Given the description of an element on the screen output the (x, y) to click on. 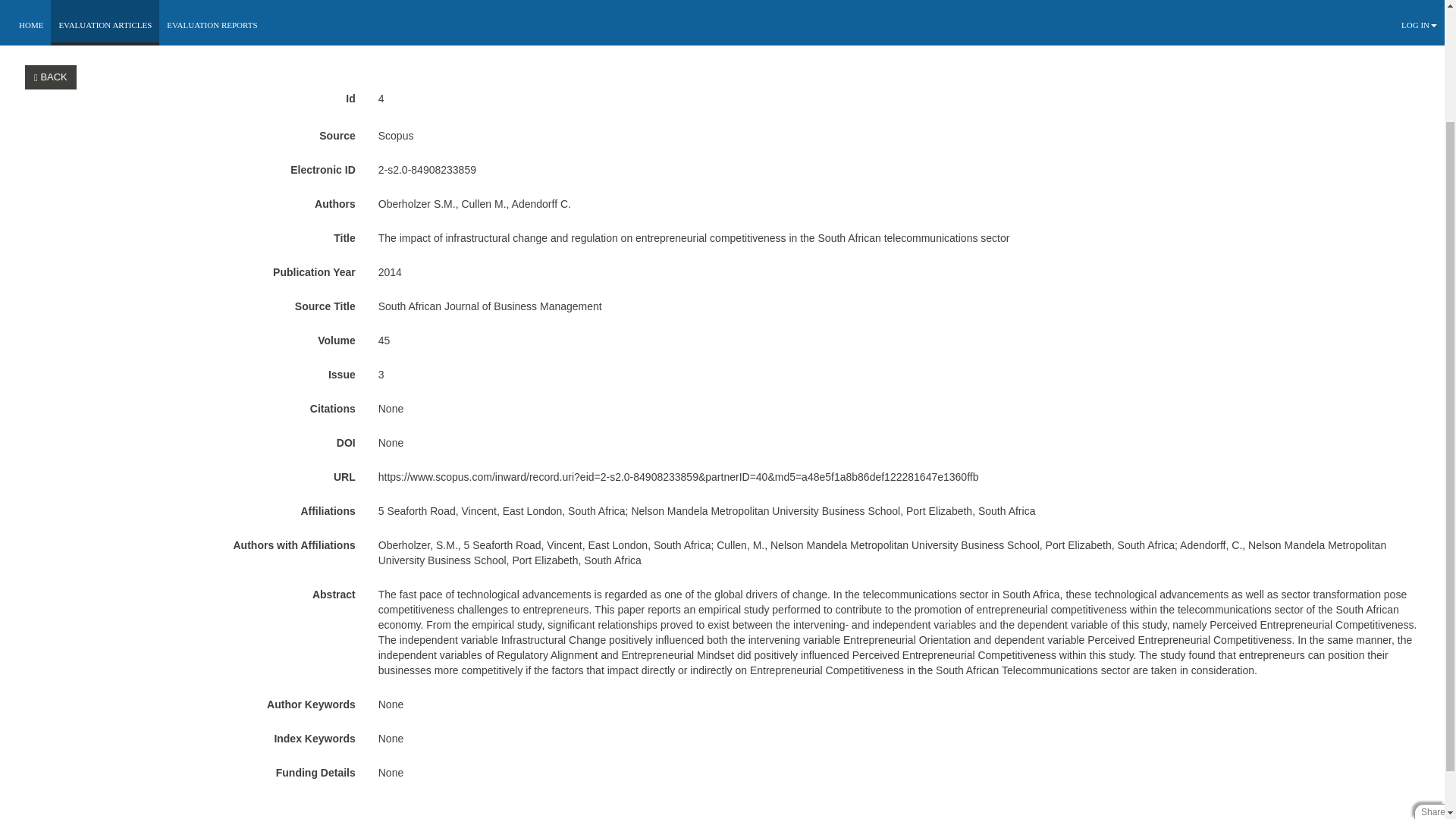
Back (53, 76)
BACK (50, 77)
